Given the description of an element on the screen output the (x, y) to click on. 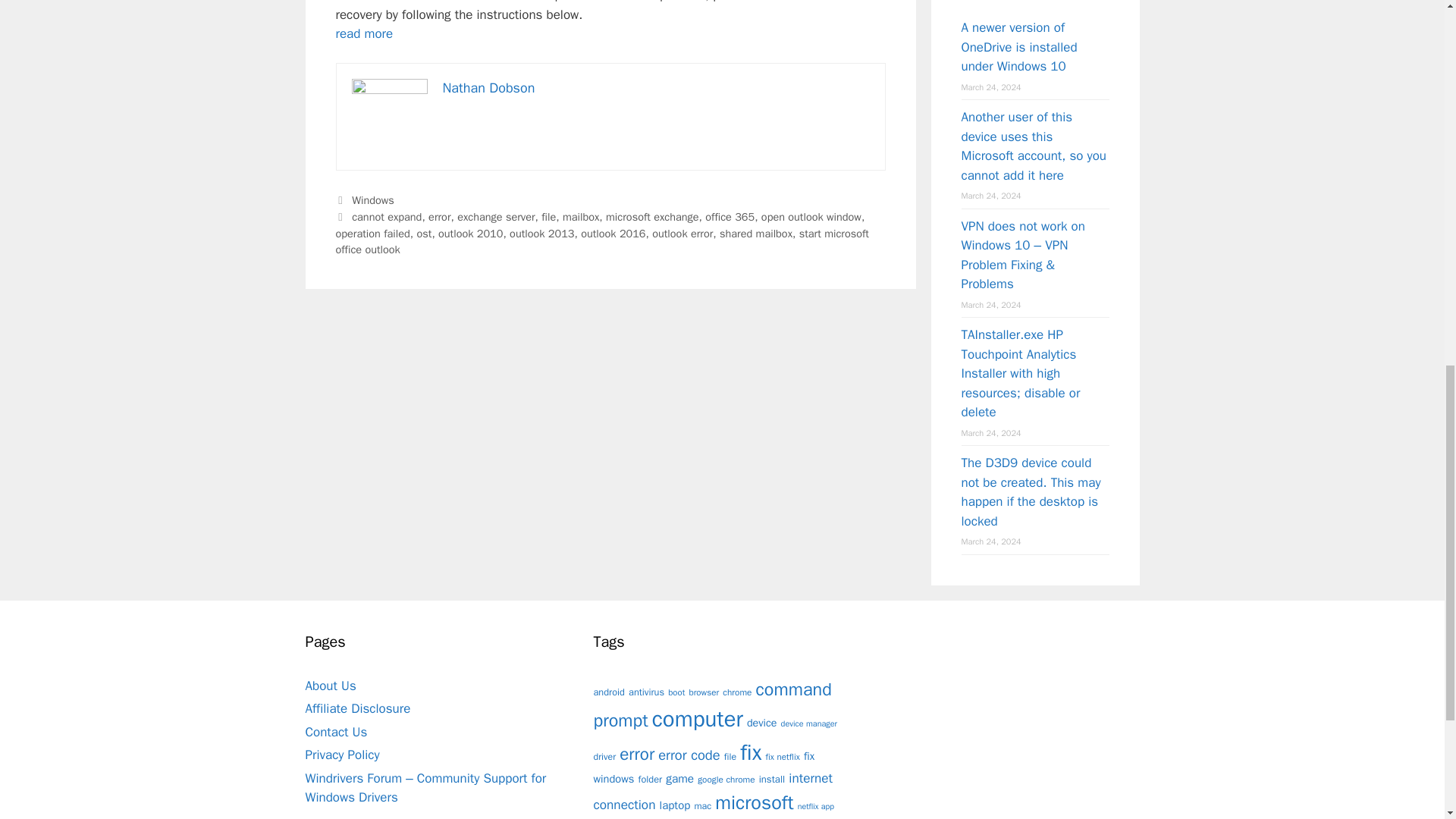
A newer version of OneDrive is installed under Windows 10 (1018, 46)
mailbox (580, 216)
microsoft exchange (651, 216)
Nathan Dobson (488, 87)
exchange server (495, 216)
outlook 2010 (470, 233)
Windows (373, 200)
open outlook window (811, 216)
outlook error (682, 233)
